Given the description of an element on the screen output the (x, y) to click on. 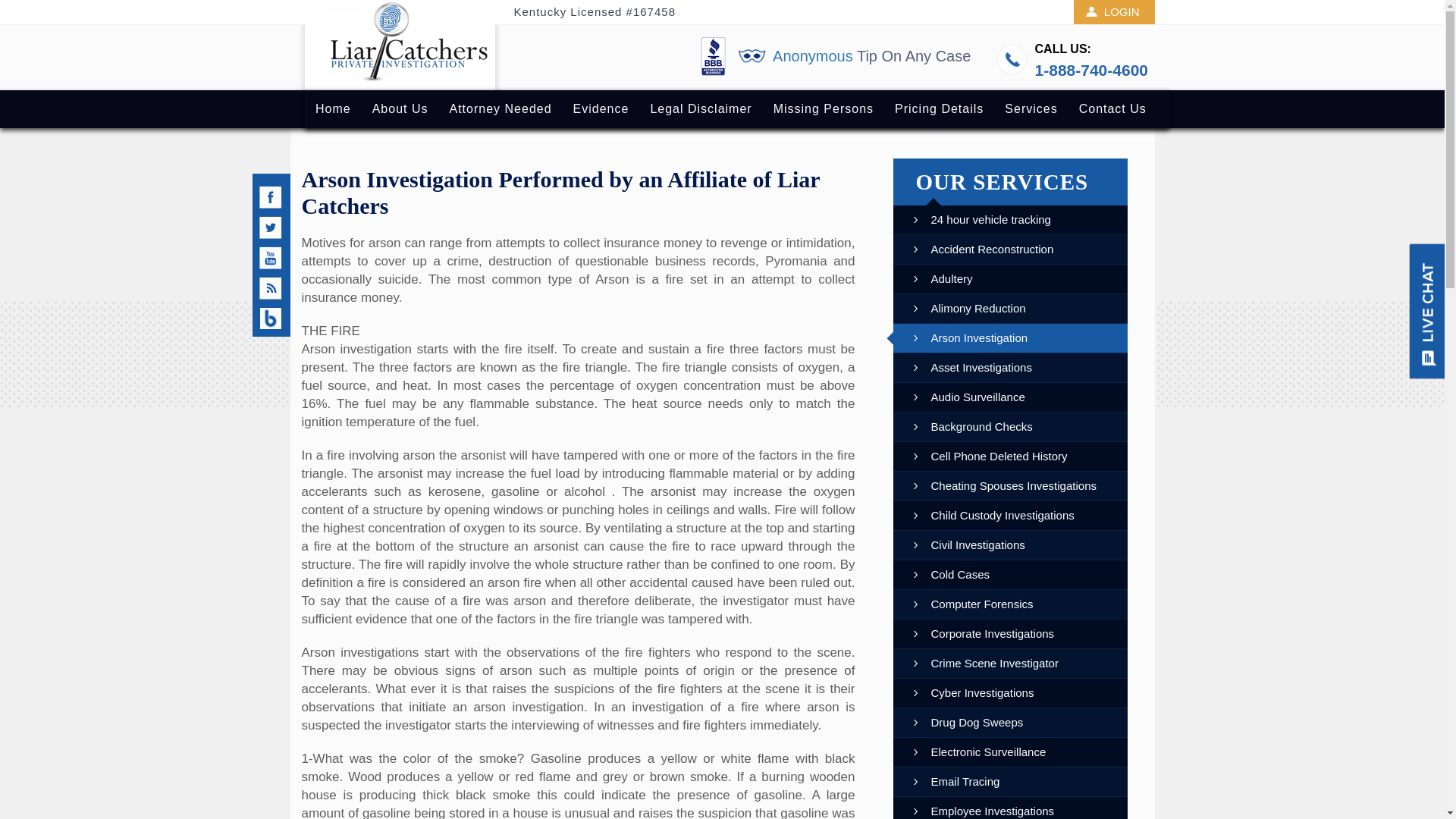
Attorney Needed (500, 108)
Corporate Investigations (982, 633)
Pricing Details (938, 108)
Email Tracing (954, 781)
LOGIN (1114, 12)
Evidence (601, 108)
Asset Investigations (970, 367)
Adultery (941, 278)
Electronic Surveillance (978, 751)
Liarcatcher (397, 45)
Audio Surveillance (968, 397)
Child Custody Investigations (992, 515)
Legal Disclaimer (700, 108)
Contact Us (1112, 108)
Cell Phone Deleted History (989, 456)
